Given the description of an element on the screen output the (x, y) to click on. 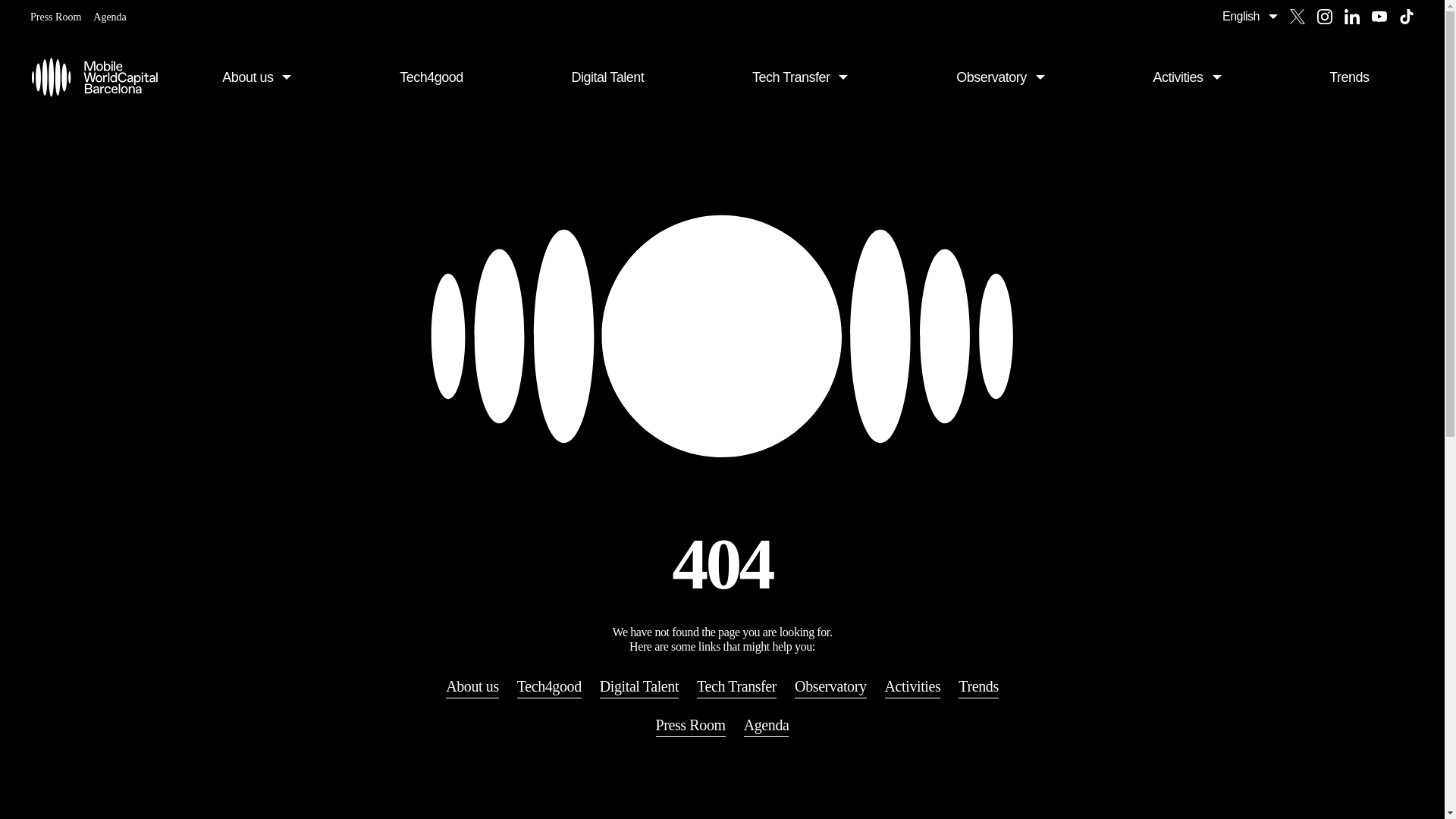
Tech Transfer (800, 77)
Digital Talent (606, 77)
Press Room (55, 17)
Tech4good (431, 77)
English (1256, 16)
Activities (1187, 77)
Observatory (1000, 77)
Agenda (109, 17)
About us (256, 77)
